Given the description of an element on the screen output the (x, y) to click on. 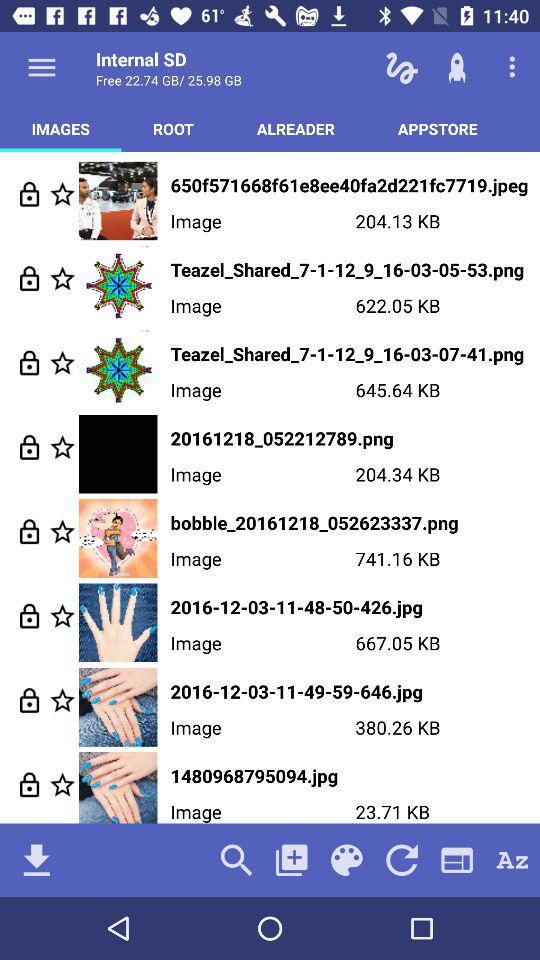
add to favorites (62, 193)
